Given the description of an element on the screen output the (x, y) to click on. 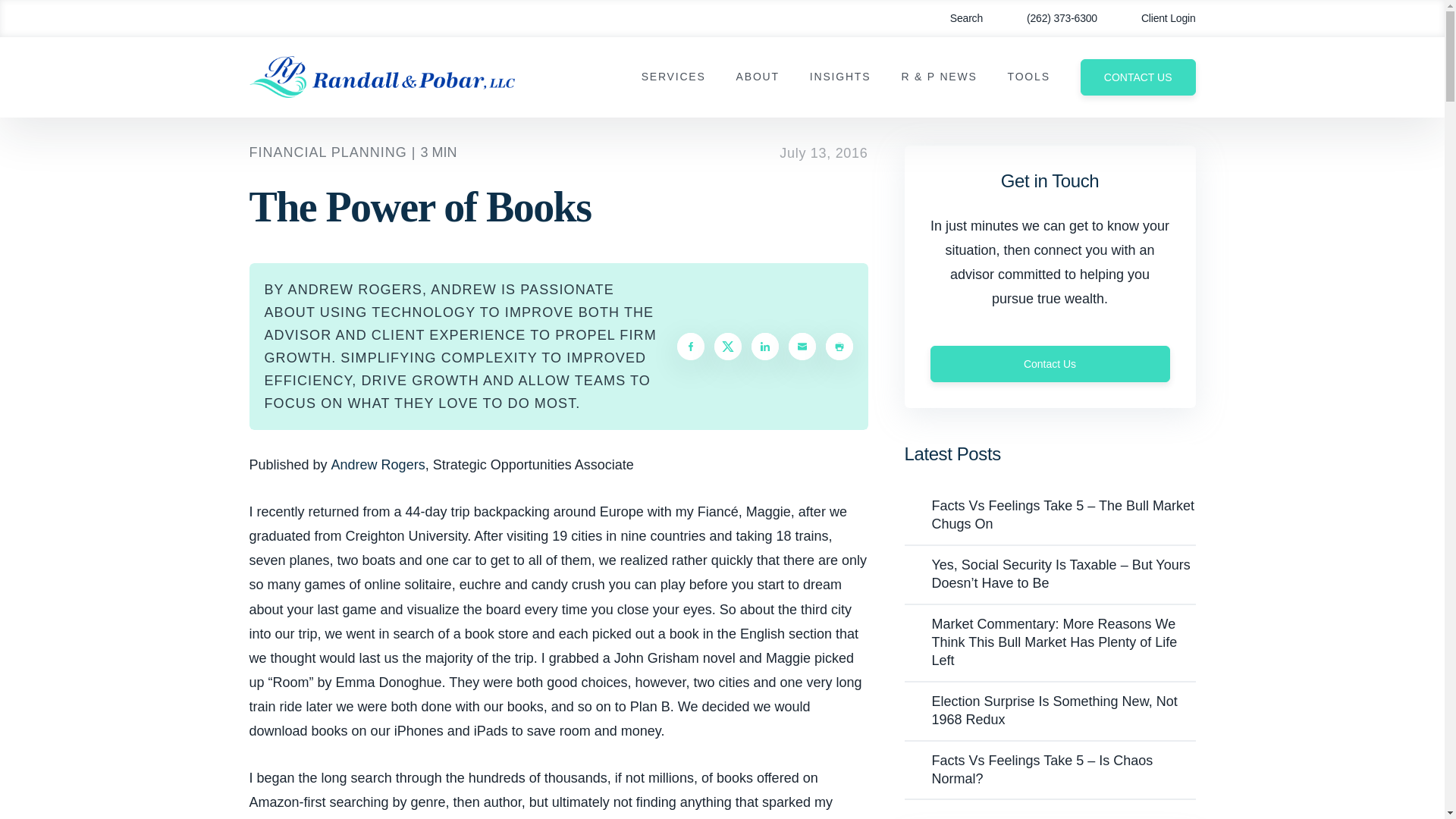
INSIGHTS (839, 77)
TOOLS (1028, 77)
Client Login (1157, 18)
CONTACT US (1137, 76)
ABOUT (757, 77)
Search (955, 18)
SERVICES (674, 77)
